Given the description of an element on the screen output the (x, y) to click on. 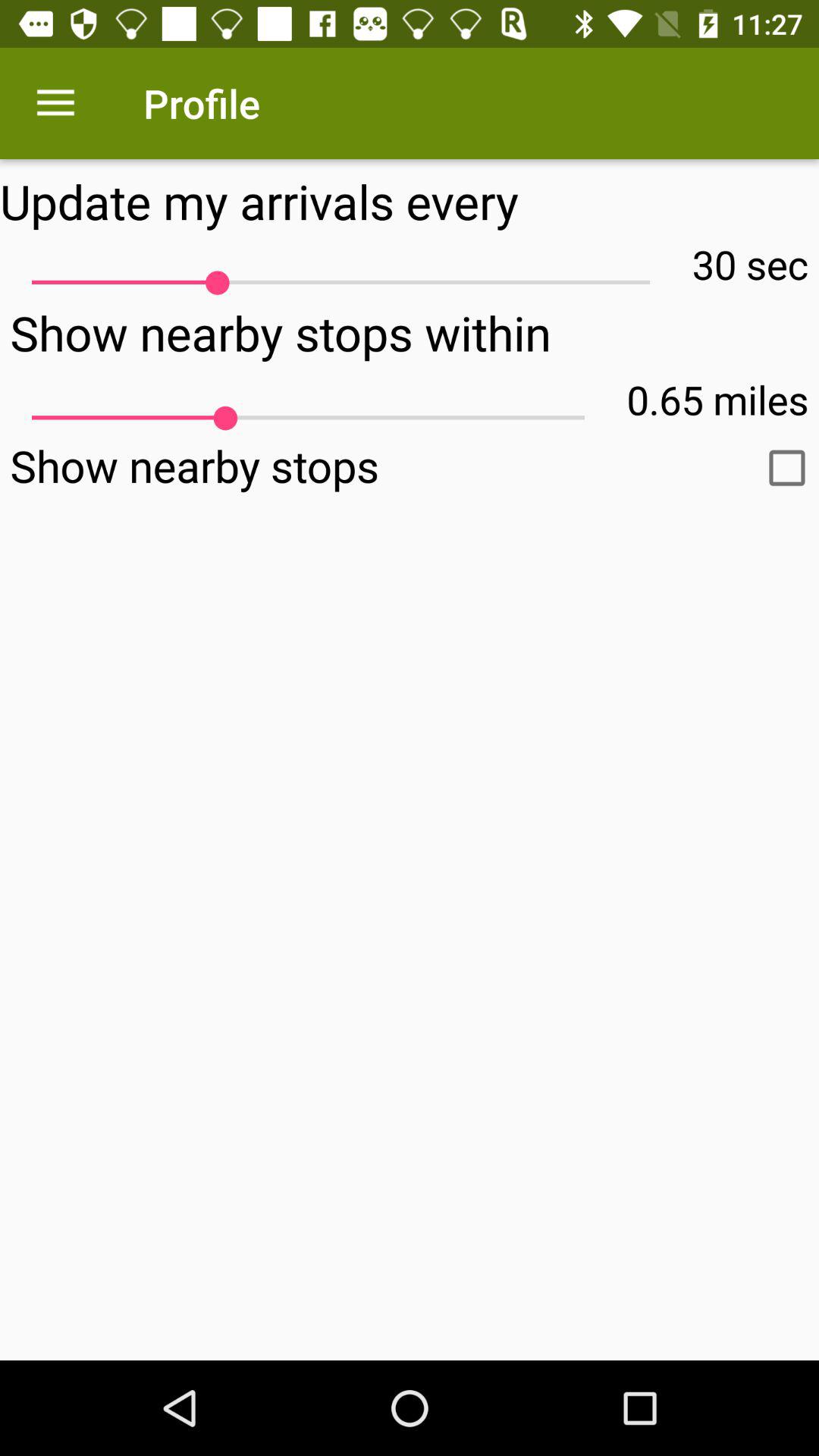
selection choice (787, 467)
